Given the description of an element on the screen output the (x, y) to click on. 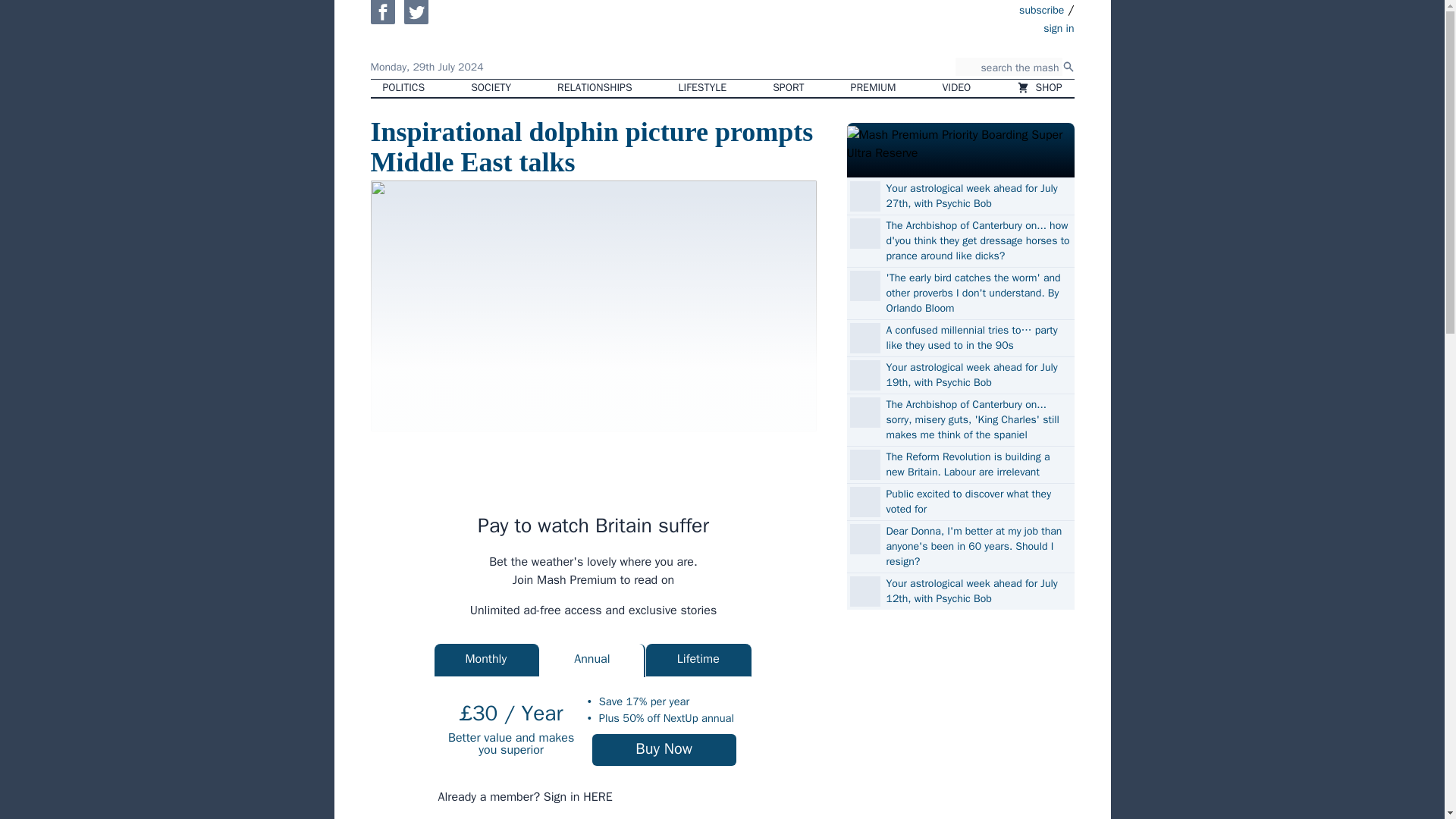
SOCIETY (490, 88)
VIDEO (957, 88)
Your astrological week ahead for July 27th, with Psychic Bob (977, 195)
SHOP (1039, 88)
POLITICS (402, 88)
Your astrological week ahead for July 19th, with Psychic Bob (977, 375)
Buy Now (664, 749)
subscribe (1041, 9)
sign in (970, 27)
PREMIUM (873, 88)
LIFESTYLE (702, 88)
SPORT (787, 88)
